Given the description of an element on the screen output the (x, y) to click on. 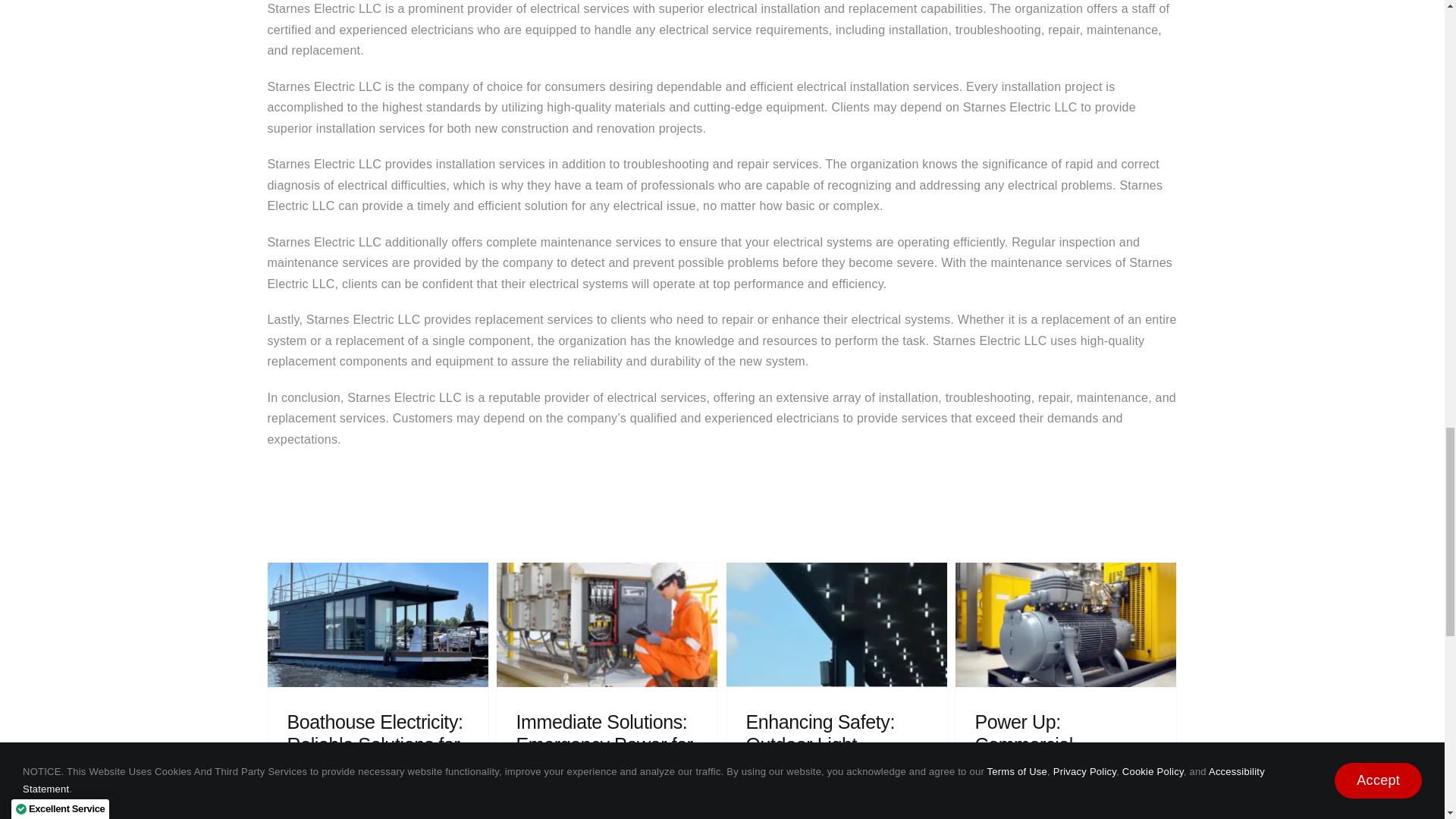
Posts by Starnes Electric (1025, 812)
Posts by Starnes Electric (566, 812)
Posts by Starnes Electric (796, 812)
Posts by Starnes Electric (337, 789)
